Given the description of an element on the screen output the (x, y) to click on. 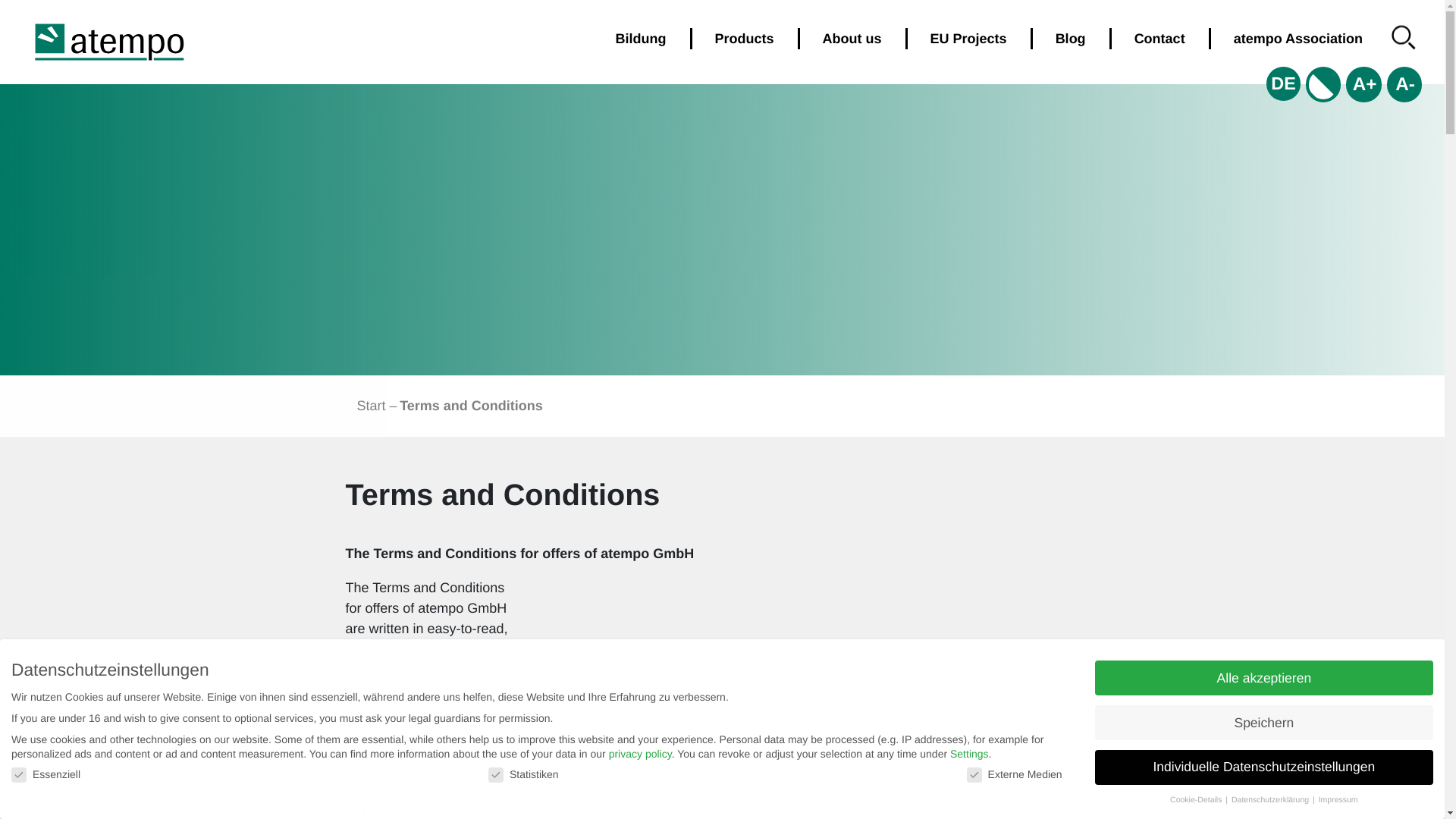
atempo Association (1298, 37)
Blog (1070, 37)
Start (370, 405)
Products (744, 37)
Bildung (640, 37)
Settings (969, 753)
EU Projects (968, 37)
About us (851, 37)
DE (1283, 82)
privacy policy (639, 753)
Gehe zu atempo. (370, 405)
Alle akzeptieren (1404, 83)
Kontrast Aktivieren (1263, 677)
Contact (1323, 83)
